Given the description of an element on the screen output the (x, y) to click on. 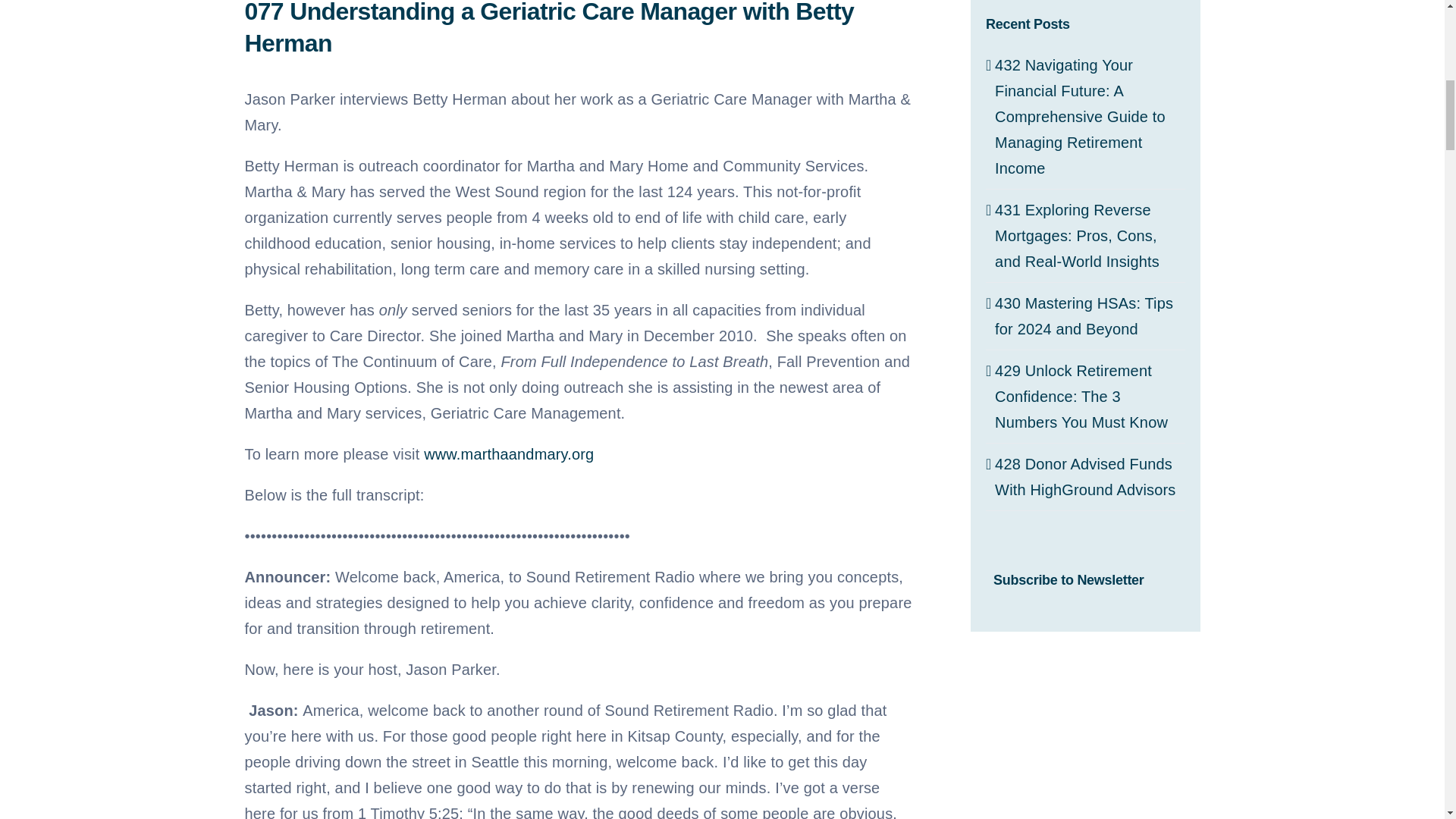
www.marthaandmary.org (508, 453)
